Given the description of an element on the screen output the (x, y) to click on. 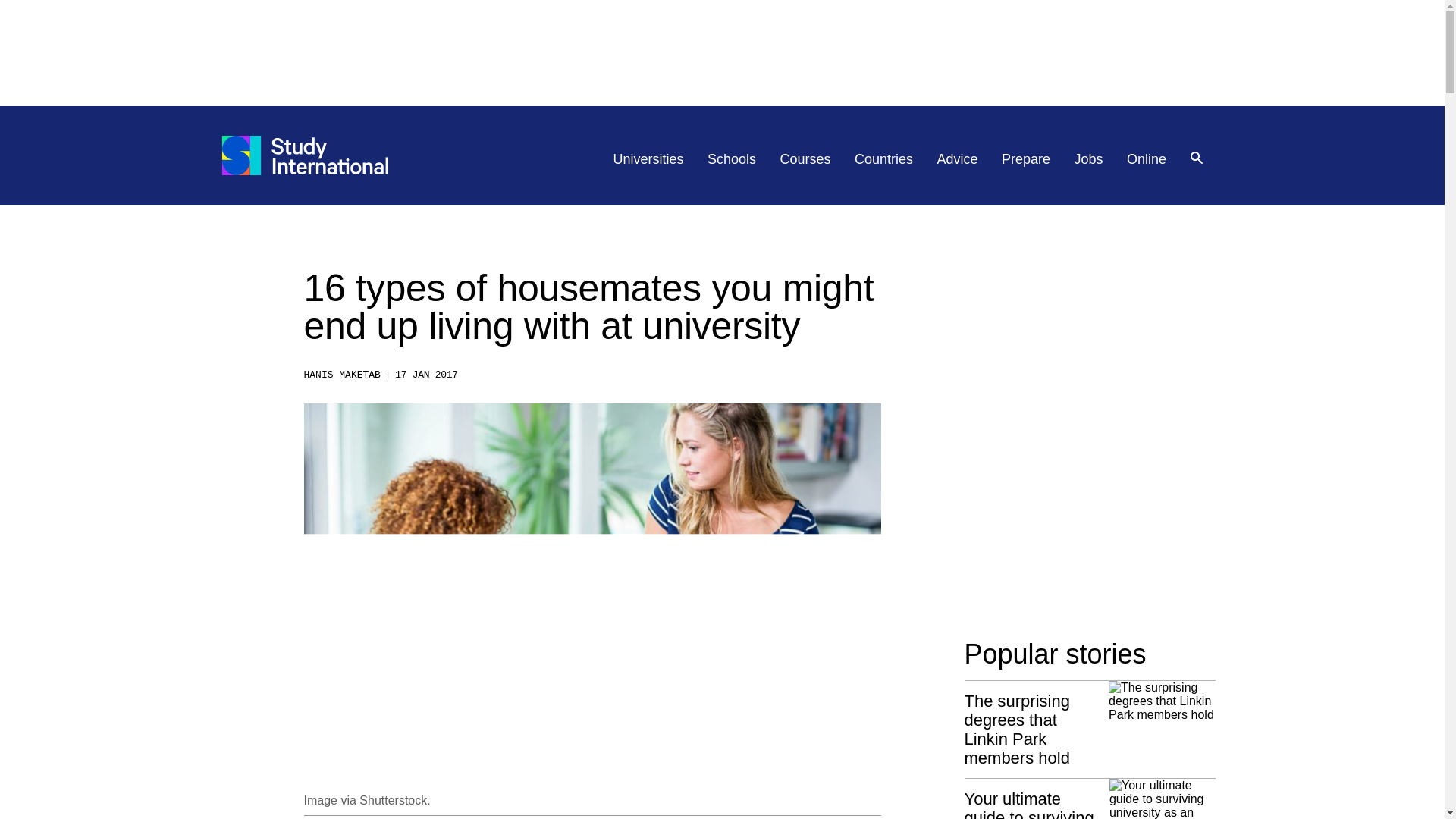
The surprising degrees that Linkin Park members hold (1089, 723)
Online (1146, 159)
Jobs (1088, 159)
Universities (648, 159)
HANIS MAKETAB (341, 374)
Countries (883, 159)
Prepare (1025, 159)
Schools (731, 159)
Courses (805, 159)
